Given the description of an element on the screen output the (x, y) to click on. 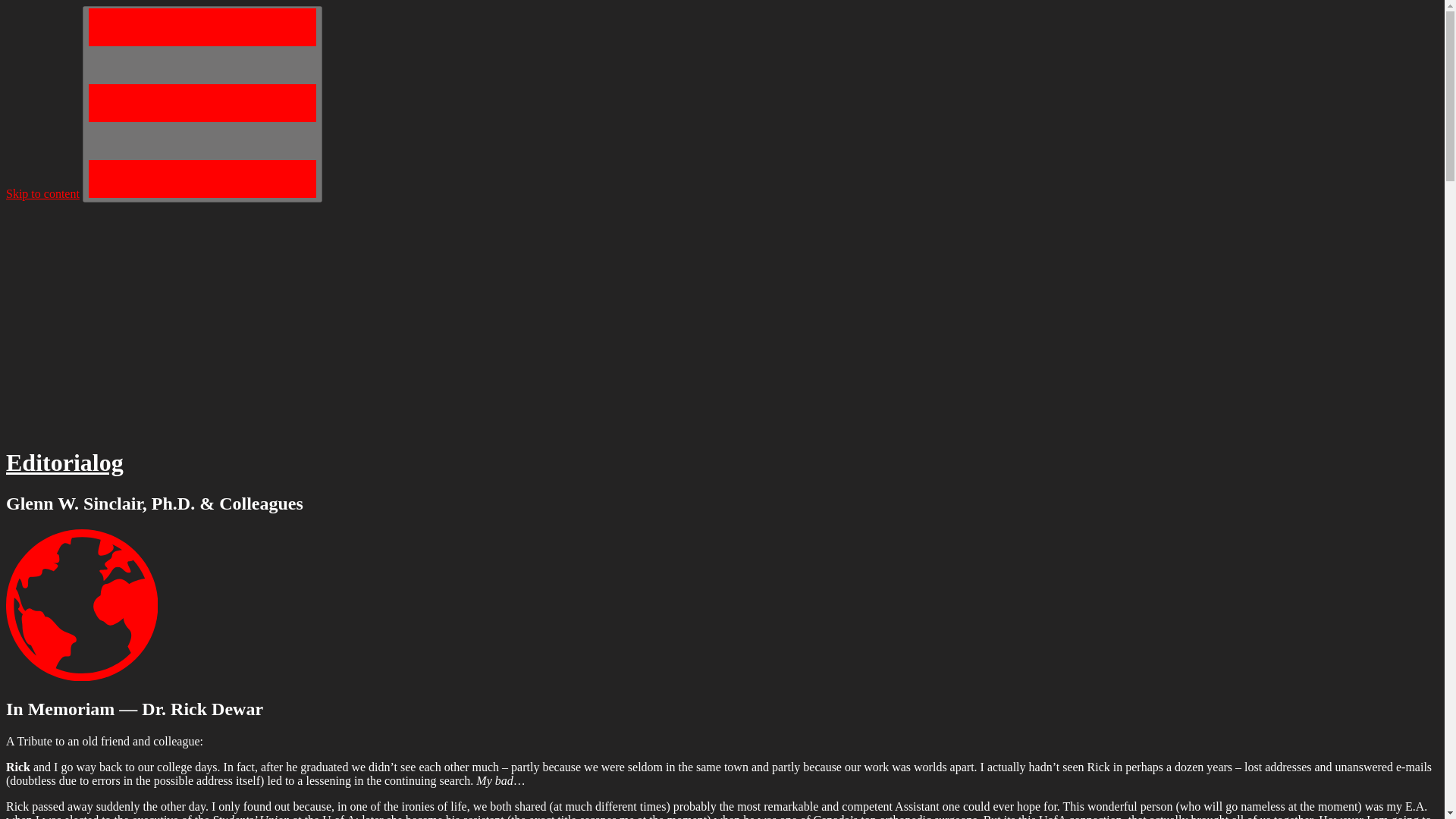
Show sidebar (201, 103)
Editorialog (64, 461)
Skip to content (42, 193)
Editorialog (64, 461)
